Given the description of an element on the screen output the (x, y) to click on. 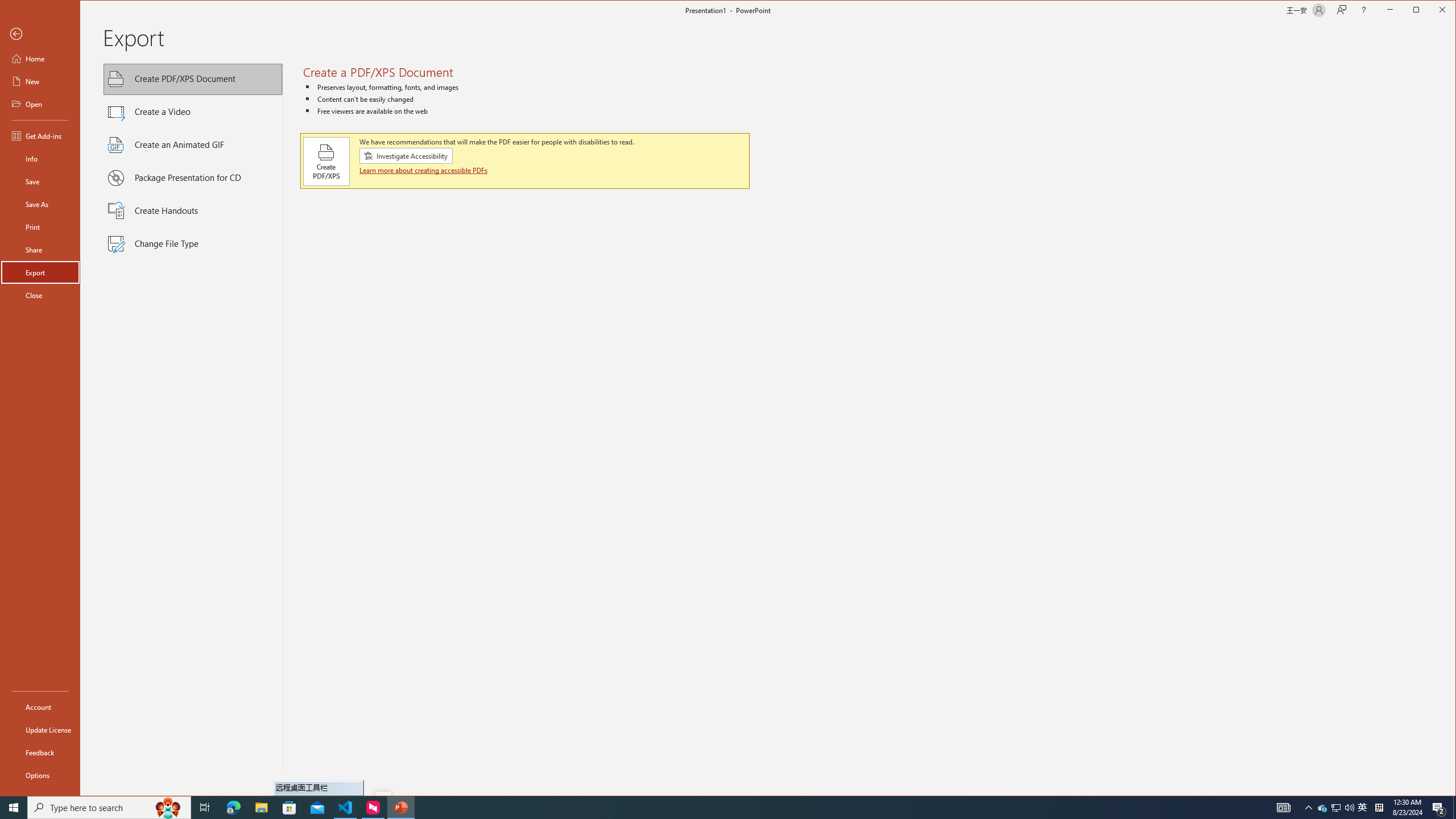
Maximize (1432, 11)
Get Add-ins (40, 135)
Create an Animated GIF (193, 145)
Learn more about creating accessible PDFs (424, 170)
Create Handouts (193, 210)
PowerPoint - 1 running window (400, 807)
Export (40, 272)
Back (40, 34)
File Explorer (261, 807)
Notification Chevron (1308, 807)
Print (40, 226)
